Given the description of an element on the screen output the (x, y) to click on. 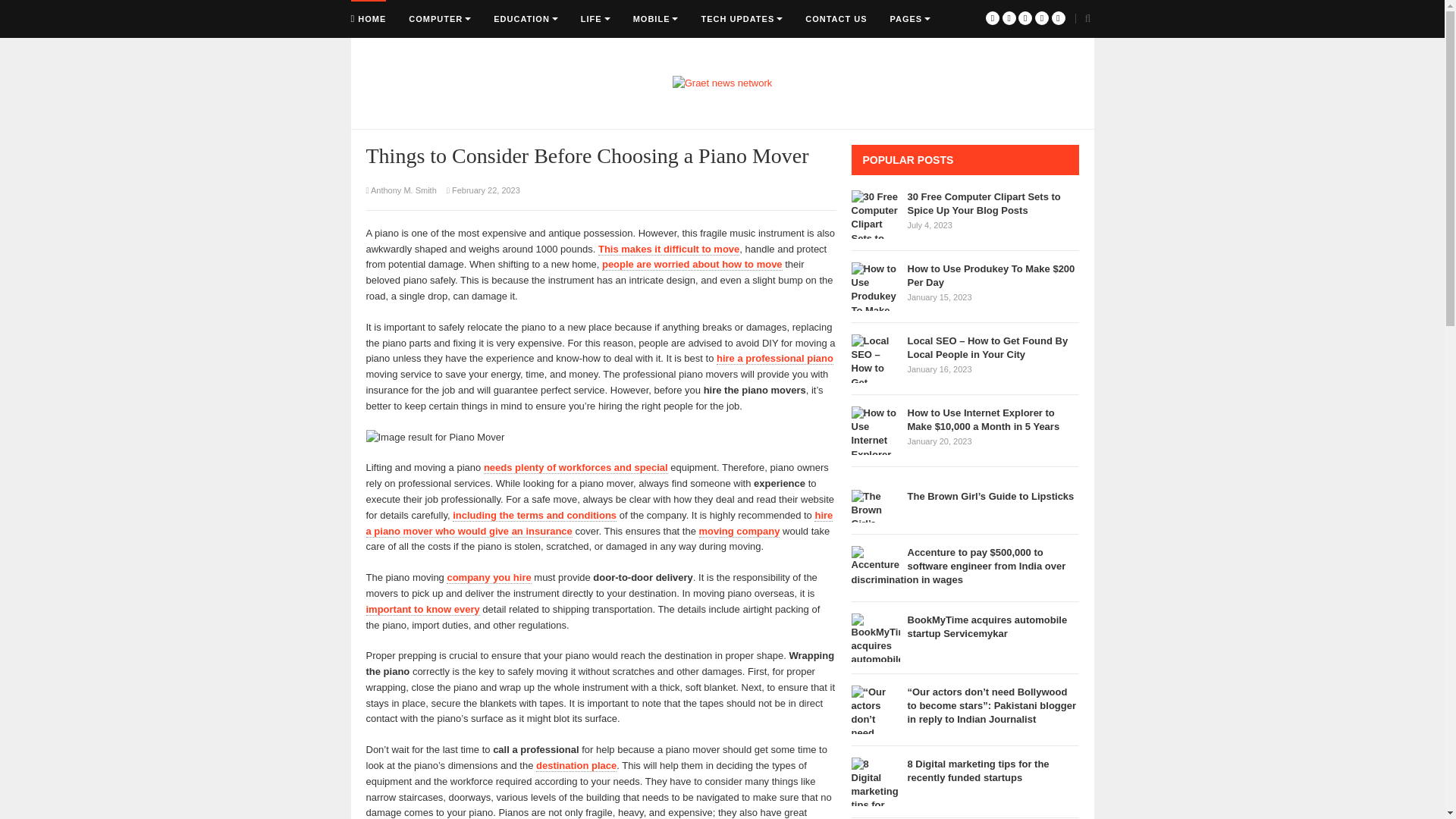
30 Free Computer Clipart Sets to Spice Up Your Blog Posts 5 (874, 214)
8 Digital marketing tips for the recently funded startups 13 (874, 781)
Things to Consider Before Choosing a Piano Mover 1 (600, 437)
BookMyTime acquires automobile startup Servicemykar 11 (874, 637)
Local SEO - How to Get Found By Local People in Your City 7 (874, 358)
